Given the description of an element on the screen output the (x, y) to click on. 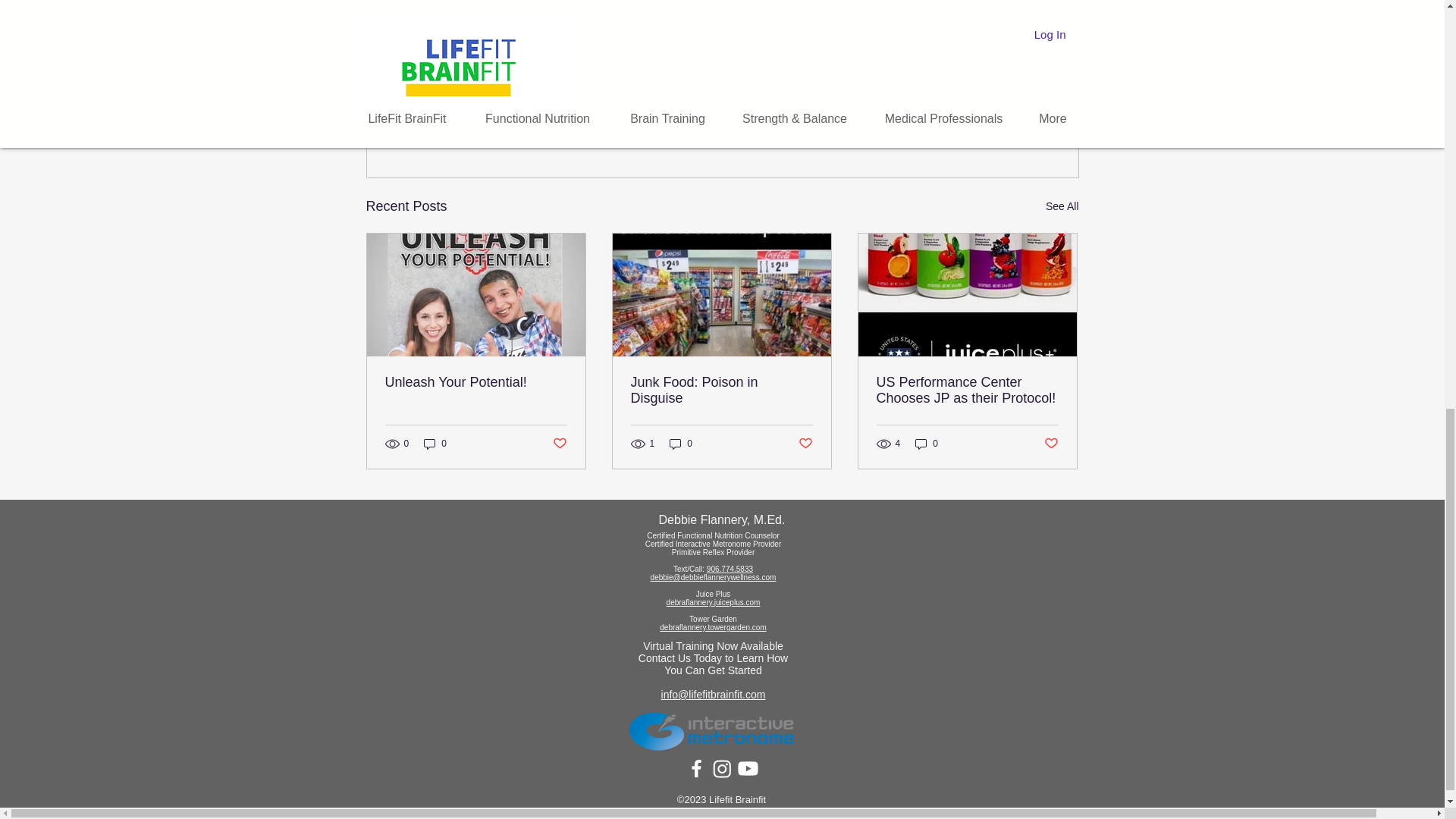
See All (1061, 206)
Post not marked as liked (558, 443)
Post not marked as liked (804, 443)
im-logo.png (712, 730)
Post not marked as liked (995, 123)
Junk Food: Poison in Disguise (721, 390)
0 (435, 442)
Unleash Your Potential! (476, 382)
0 (681, 442)
